Given the description of an element on the screen output the (x, y) to click on. 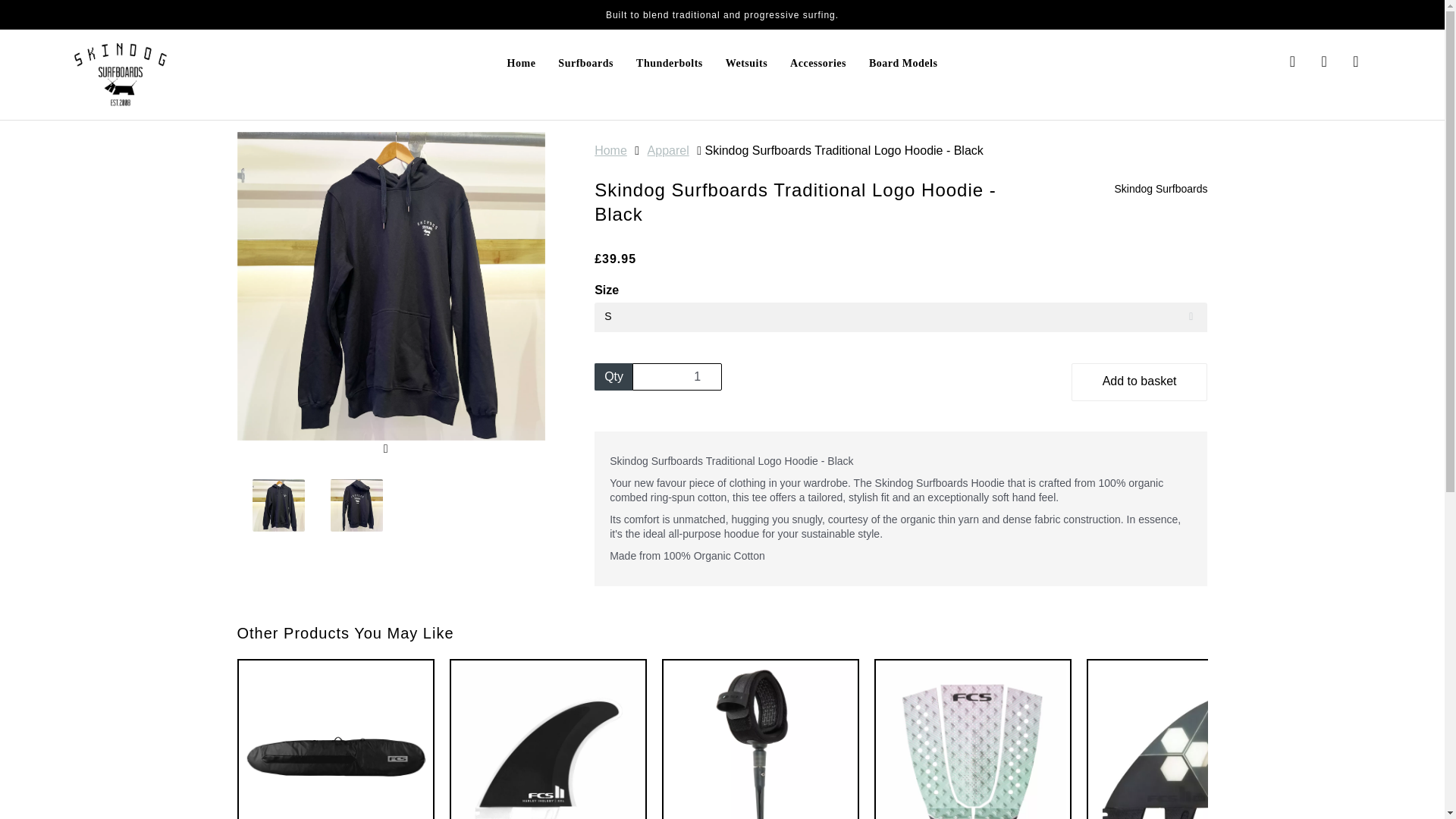
Wetsuits (746, 63)
Accessories (817, 63)
Home (521, 63)
Thunderbolts (669, 63)
Surfboards (585, 63)
1 (676, 376)
